Given the description of an element on the screen output the (x, y) to click on. 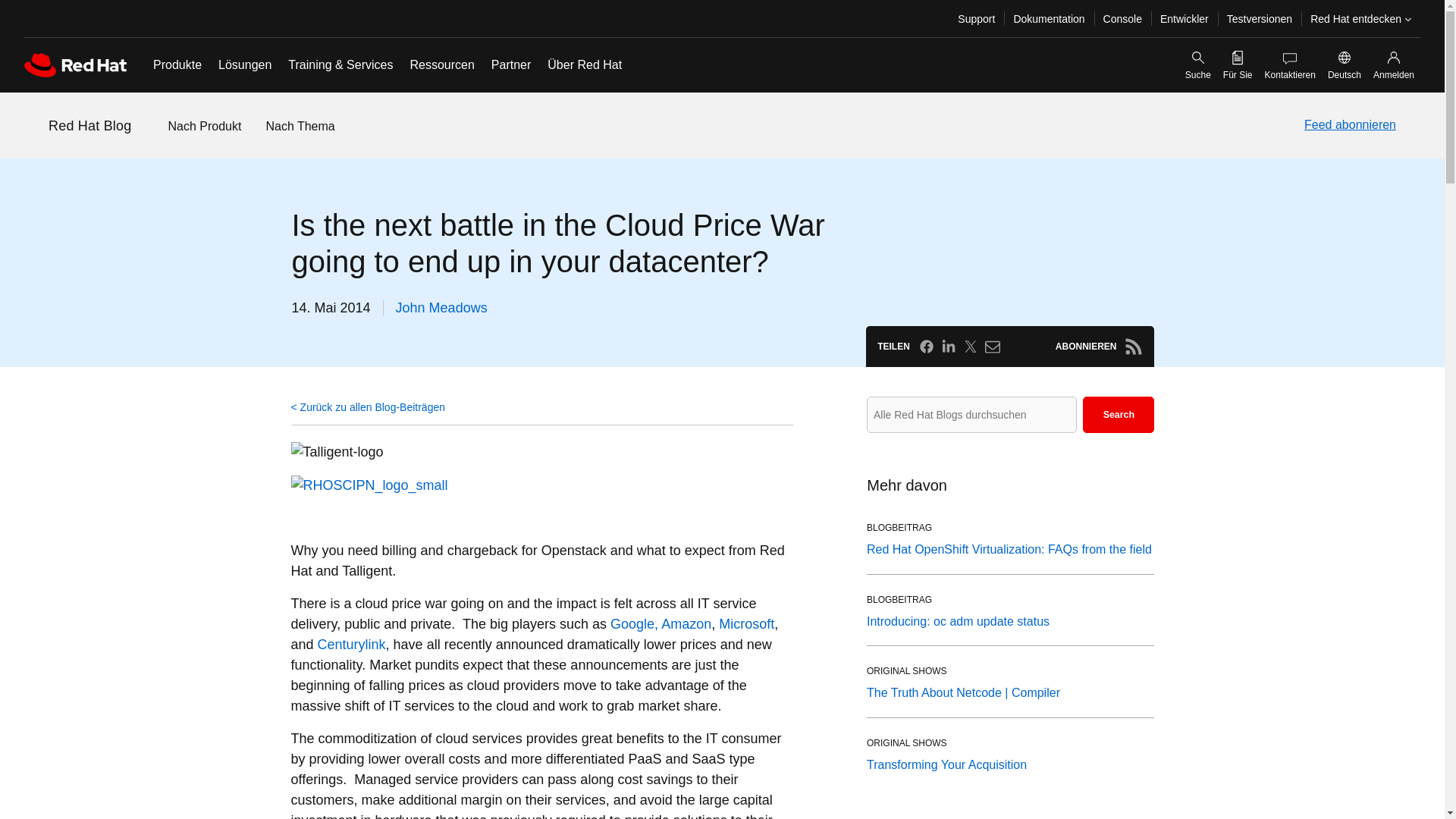
See more by John Meadows (441, 307)
Entwickler (1184, 18)
Support (976, 18)
Abonnieren (1132, 346)
Console (1122, 18)
Dokumentation (1048, 18)
Testversionen (1259, 18)
Feed abonnieren (1350, 125)
Red Hat entdecken (1361, 18)
